Given the description of an element on the screen output the (x, y) to click on. 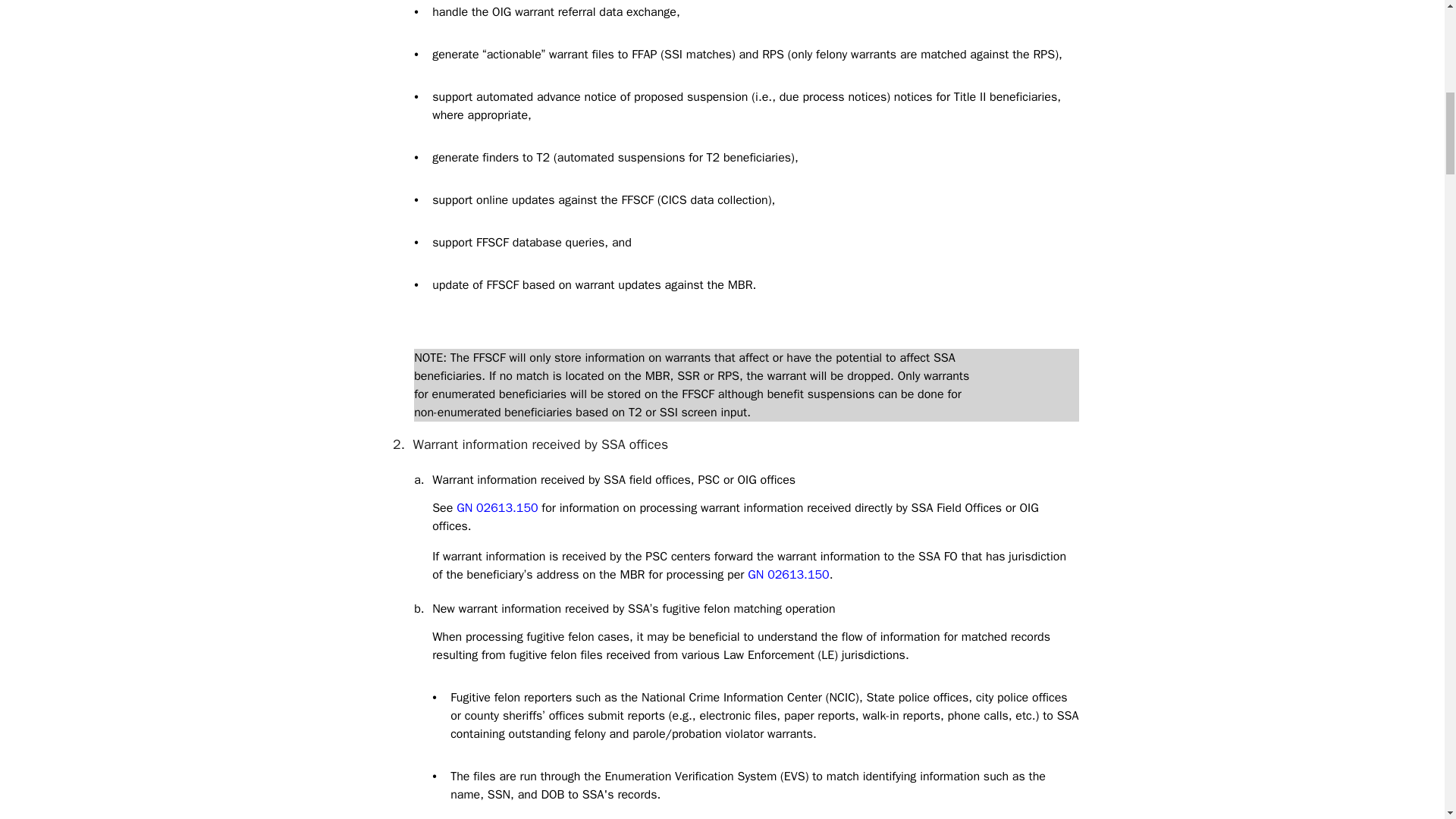
GN 02613.150 (497, 507)
GN 02613.150 (788, 574)
